Given the description of an element on the screen output the (x, y) to click on. 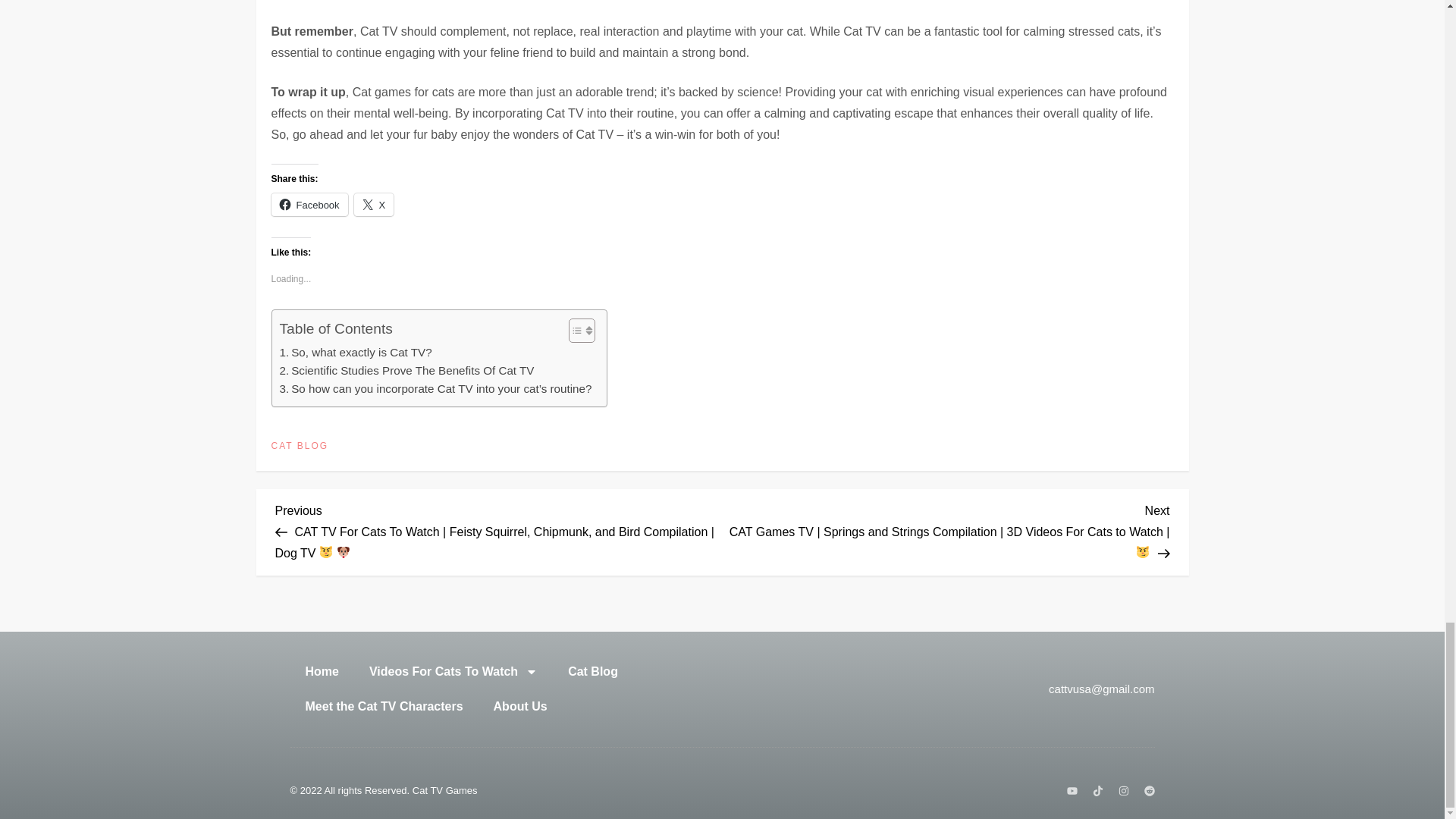
Scientific Studies Prove The Benefits Of Cat TV (406, 370)
Click to share on Facebook (308, 204)
Click to share on X (373, 204)
So, what exactly is Cat TV? (354, 352)
